Given the description of an element on the screen output the (x, y) to click on. 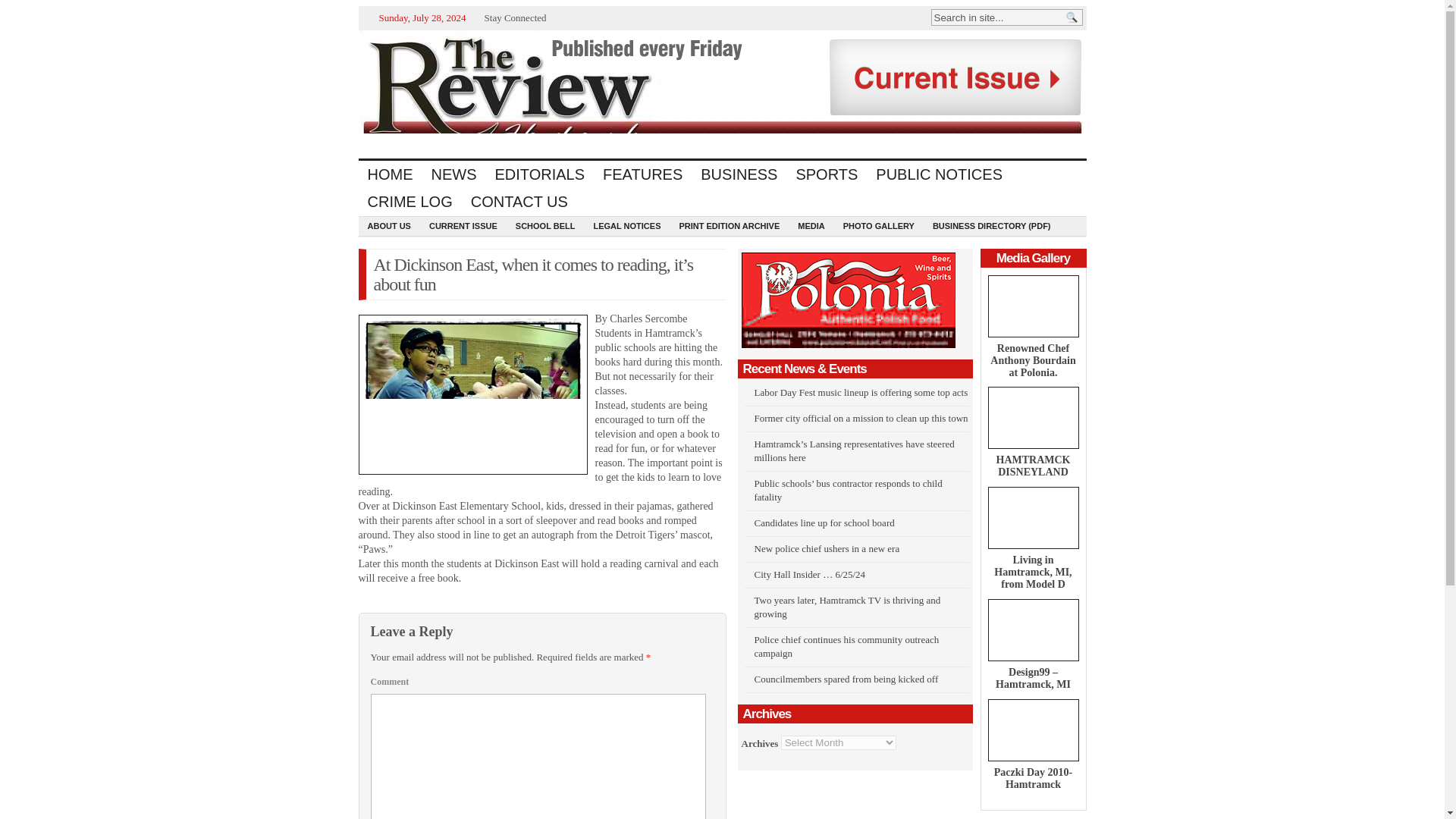
Search in site... (996, 17)
Candidates line up for school board (823, 522)
FEATURES (642, 174)
CRIME LOG (409, 201)
Councilmembers spared from being kicked off (845, 678)
Permalink to Renowned Chef Anthony Bourdain at Polonia. (1032, 360)
HOME (390, 174)
New police chief ushers in a new era (826, 548)
EDITORIALS (539, 174)
PUBLIC NOTICES (938, 174)
NEWS (453, 174)
Labor Day Fest music lineup is offering some top acts (861, 392)
Living in Hamtramck, MI, from Model D (1033, 517)
Paczki Day 2010-Hamtramck (1033, 730)
HAMTRAMCK DISNEYLAND (1032, 465)
